Given the description of an element on the screen output the (x, y) to click on. 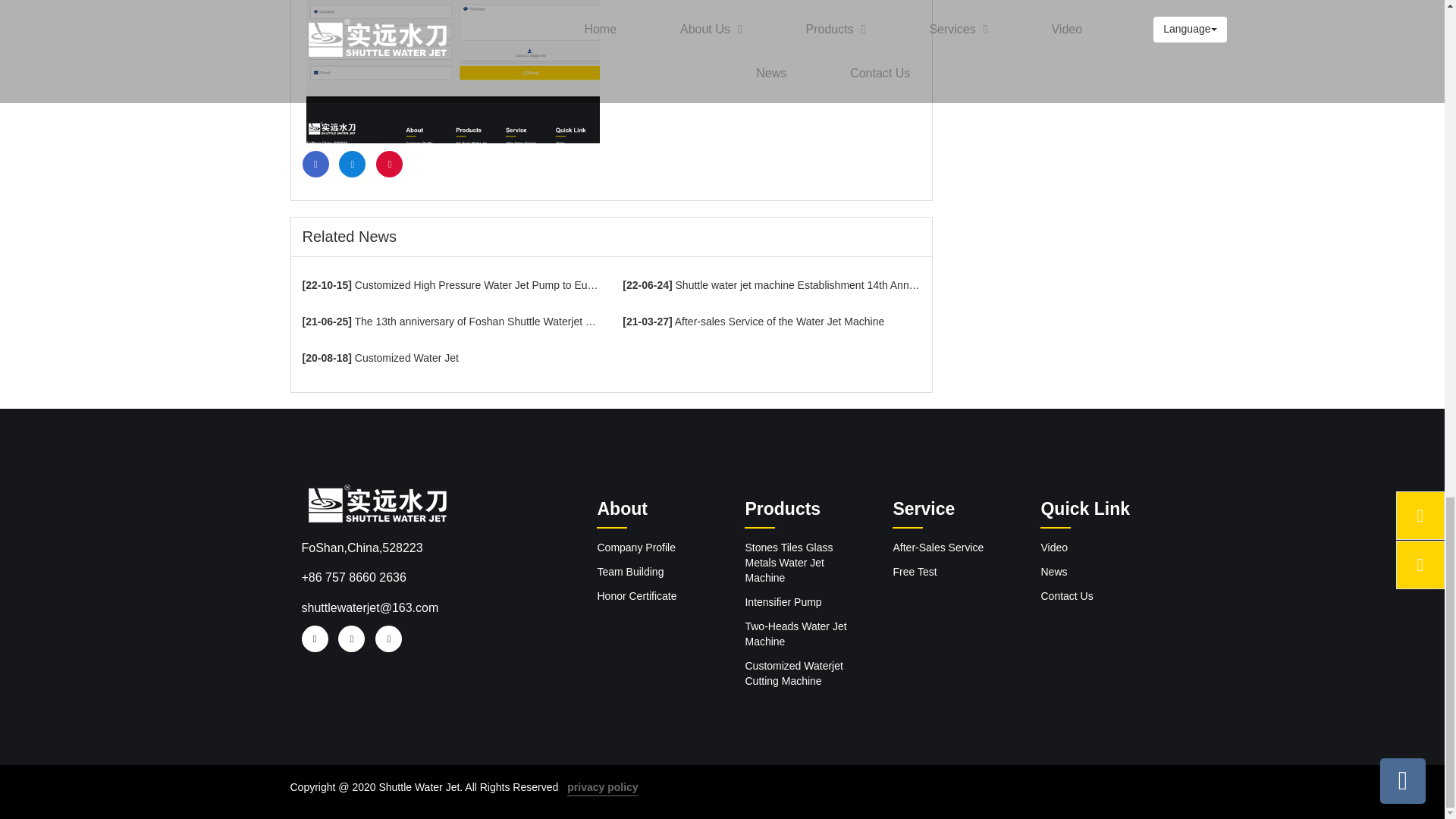
After-sales Service of the Water Jet Machine (771, 321)
Shuttle water jet machine Establishment 14th Anniversary (771, 284)
Customized High Pressure Water Jet Pump to Europe (450, 284)
Customized Water Jet (450, 357)
